Given the description of an element on the screen output the (x, y) to click on. 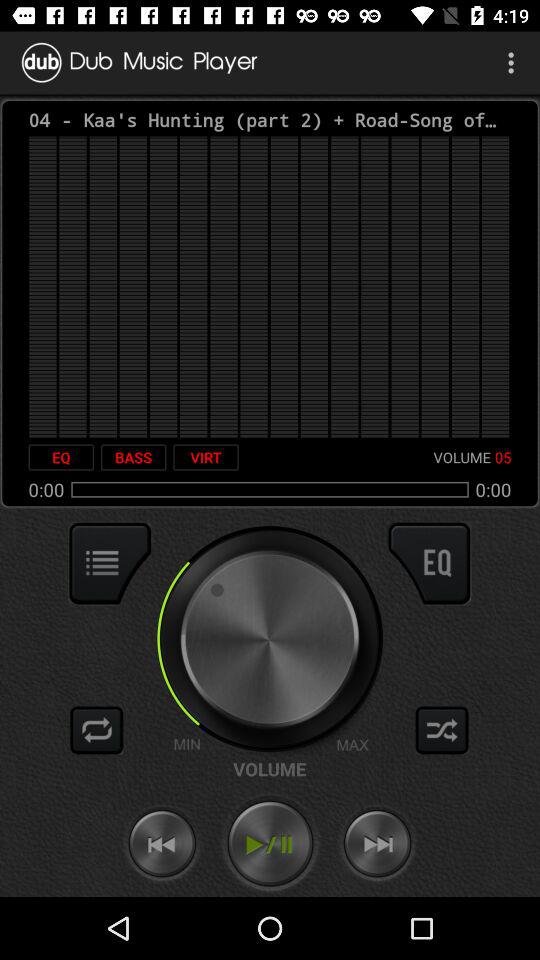
shuffle (97, 730)
